Given the description of an element on the screen output the (x, y) to click on. 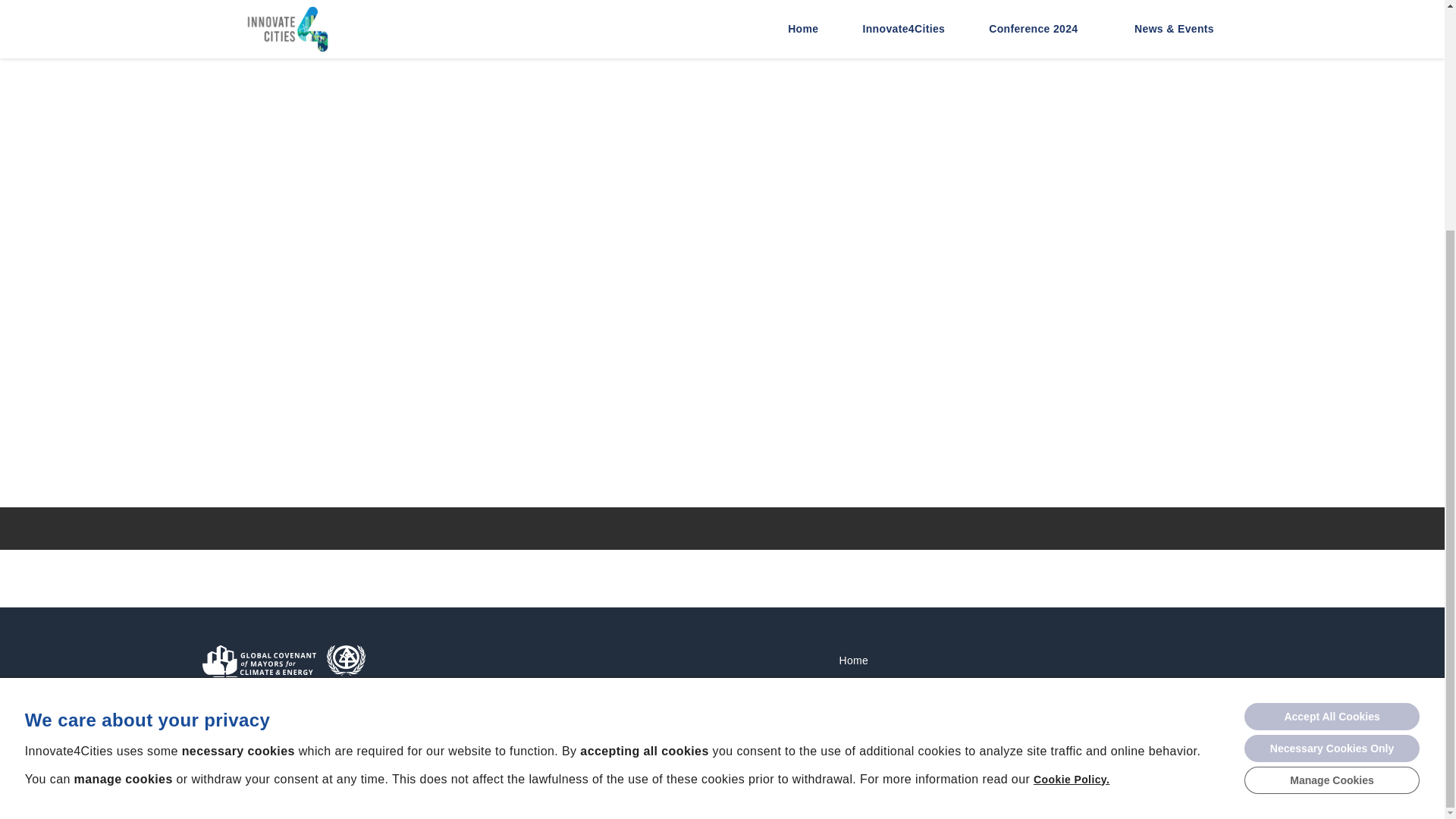
Conference 2024 (881, 708)
Cookie Policy. (1071, 467)
Manage Cookies (1331, 468)
Necessary Cookies Only (1331, 436)
Home (852, 660)
Accept All Cookies (1331, 404)
Innovate4Cities (876, 684)
